Given the description of an element on the screen output the (x, y) to click on. 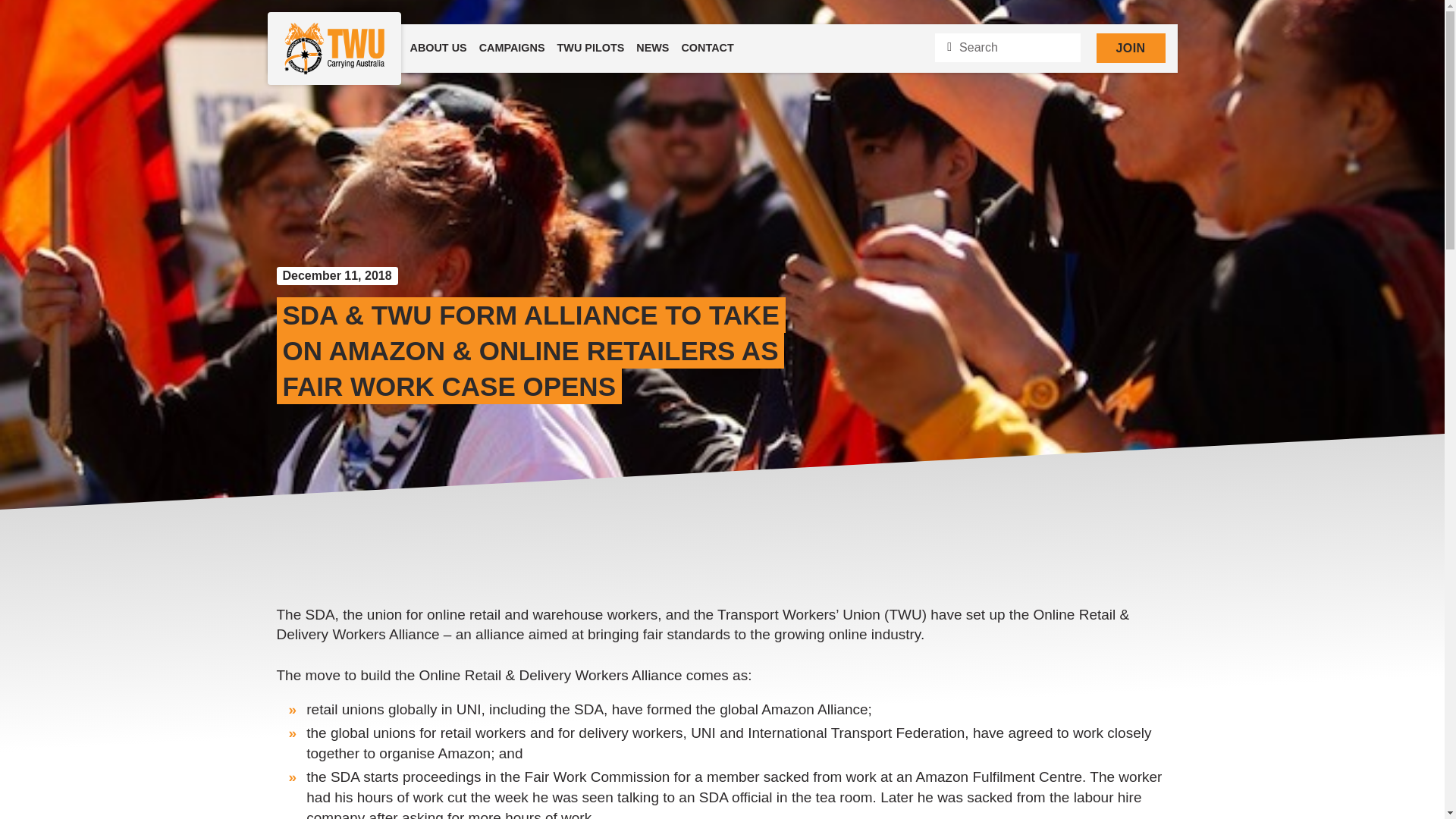
ABOUT US (437, 48)
CAMPAIGNS (512, 48)
CONTACT (707, 48)
JOIN (1131, 48)
NEWS (652, 48)
TWU PILOTS (590, 48)
